Given the description of an element on the screen output the (x, y) to click on. 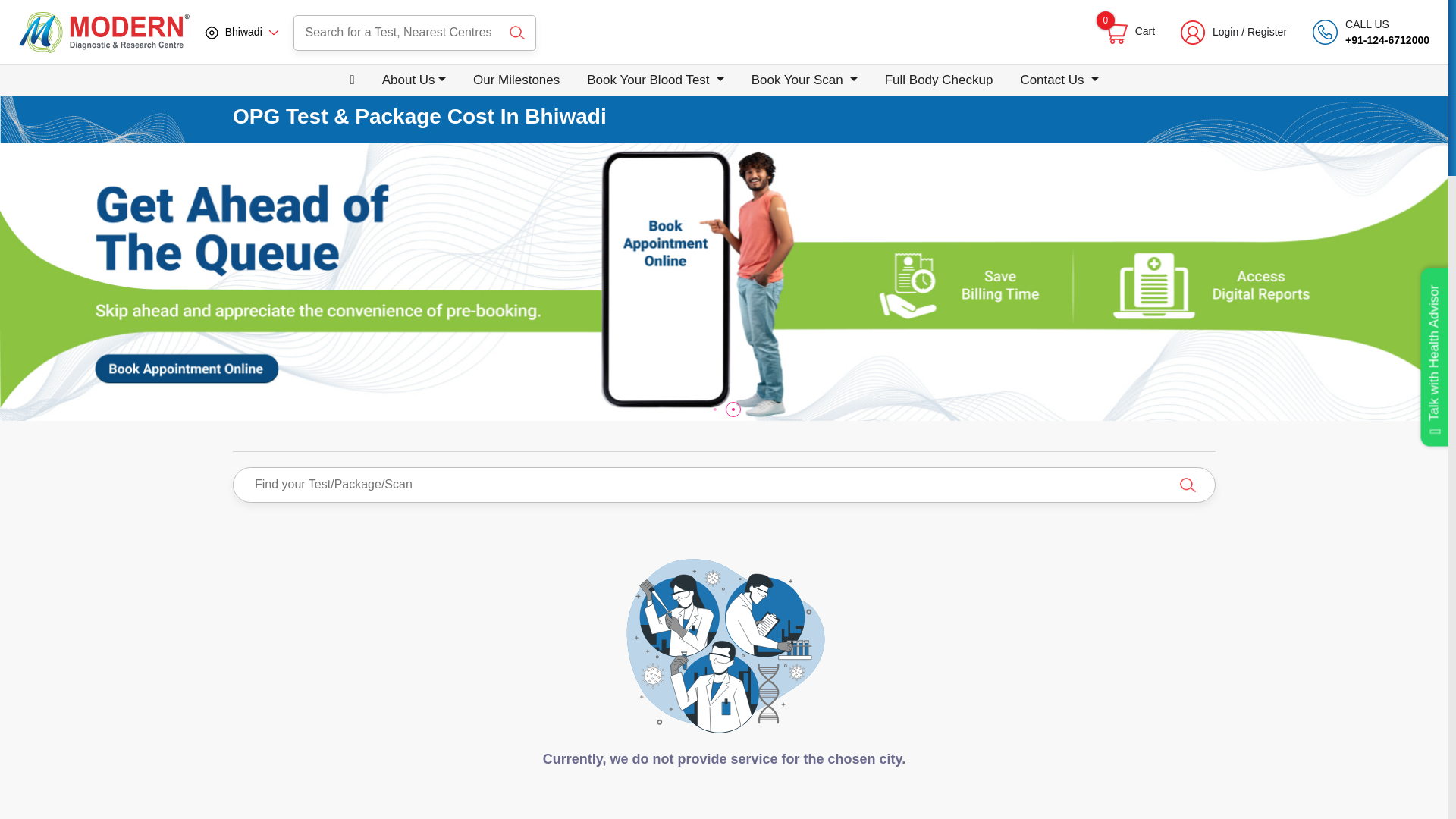
About Us (414, 80)
Bhiwadi (241, 32)
Our Milestones (516, 80)
Book Your Blood Test (1128, 32)
